Given the description of an element on the screen output the (x, y) to click on. 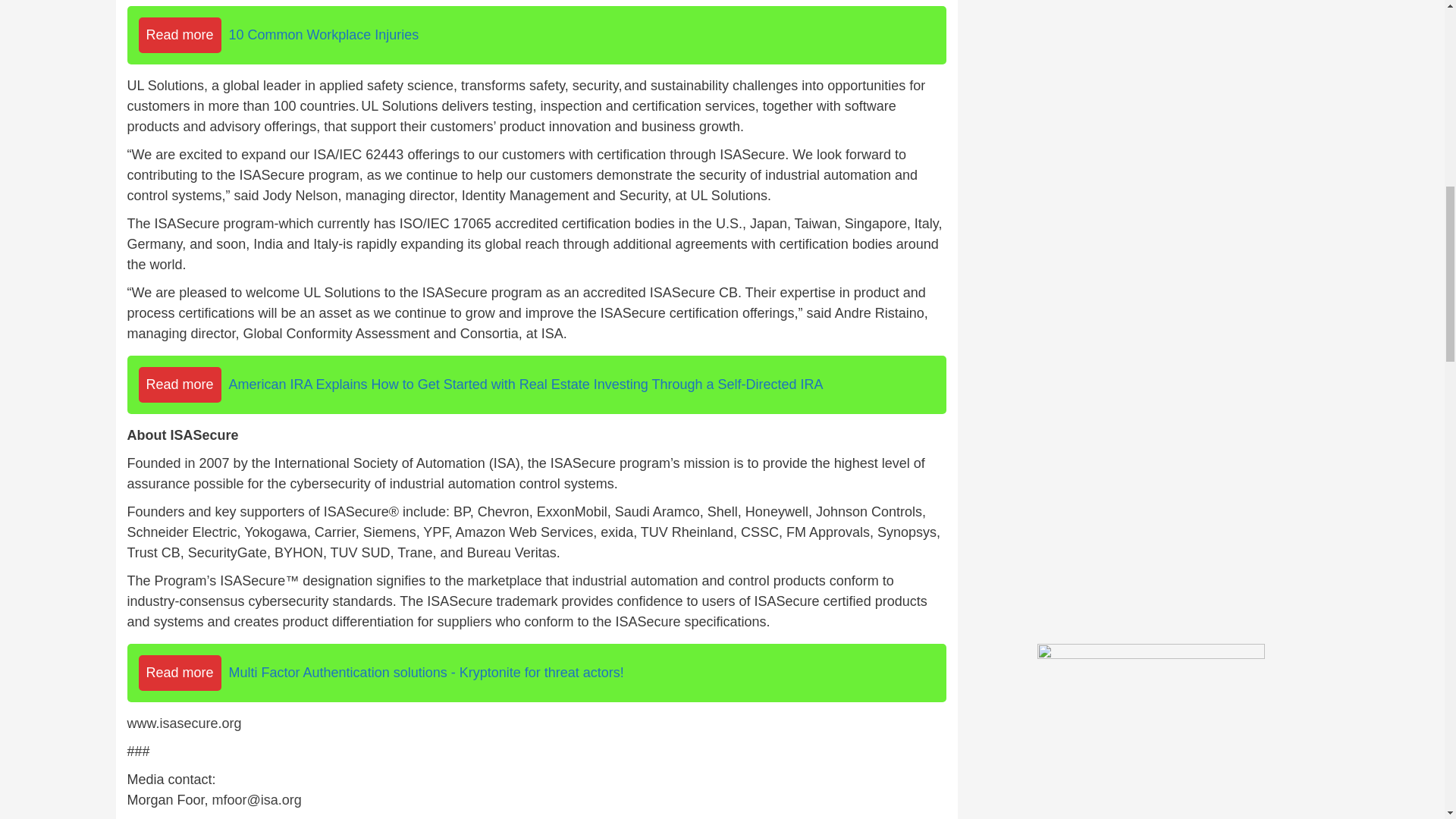
Read more10 Common Workplace Injuries (537, 34)
www.isasecure.org (184, 723)
